Given the description of an element on the screen output the (x, y) to click on. 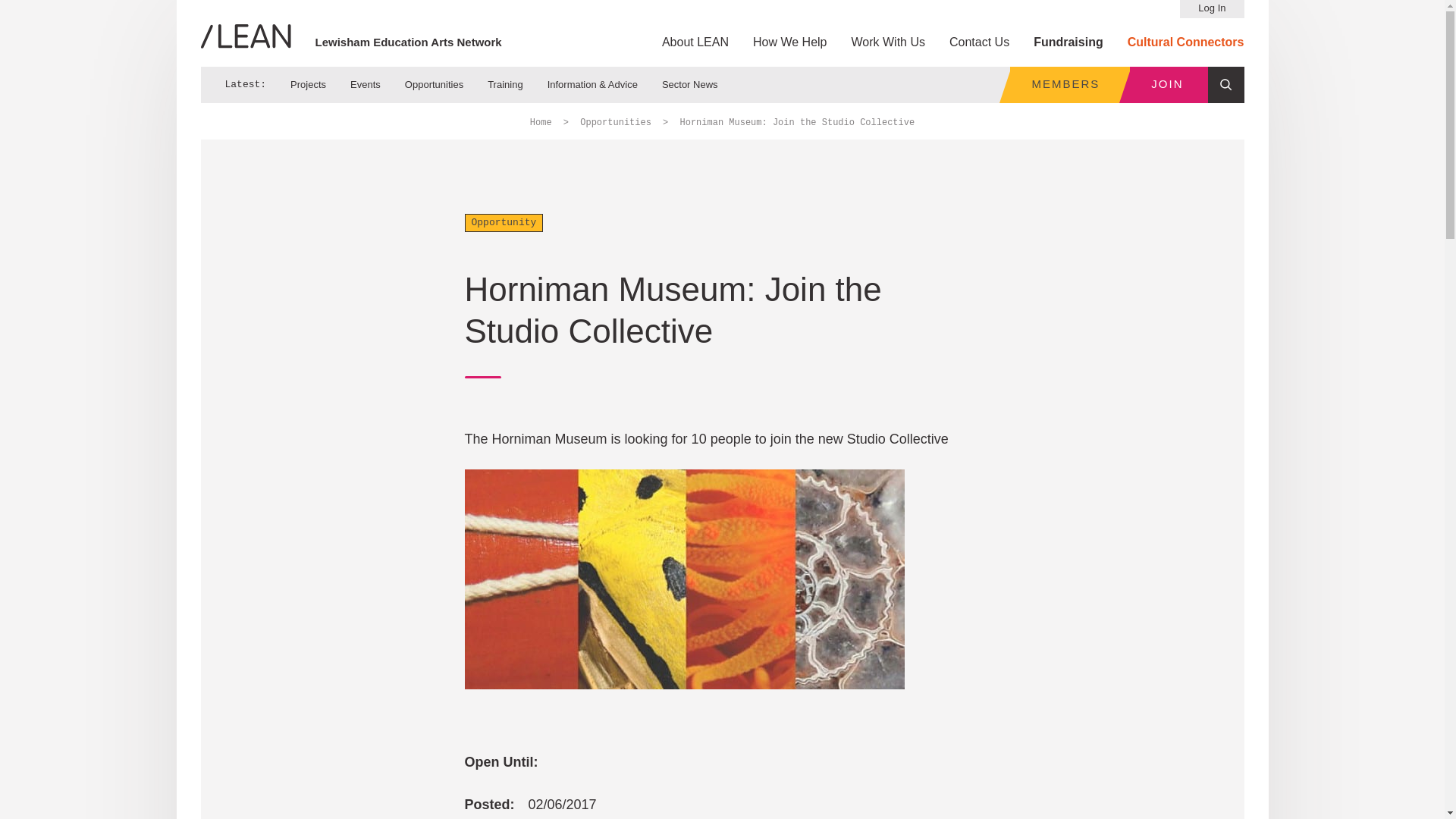
Projects (307, 84)
Cultural Connectors (1185, 42)
Work With Us (887, 42)
Opportunities (614, 122)
LEAN (244, 36)
Fundraising (1068, 42)
JOIN (1168, 84)
Search (1225, 84)
Home (540, 122)
About LEAN (695, 42)
